Given the description of an element on the screen output the (x, y) to click on. 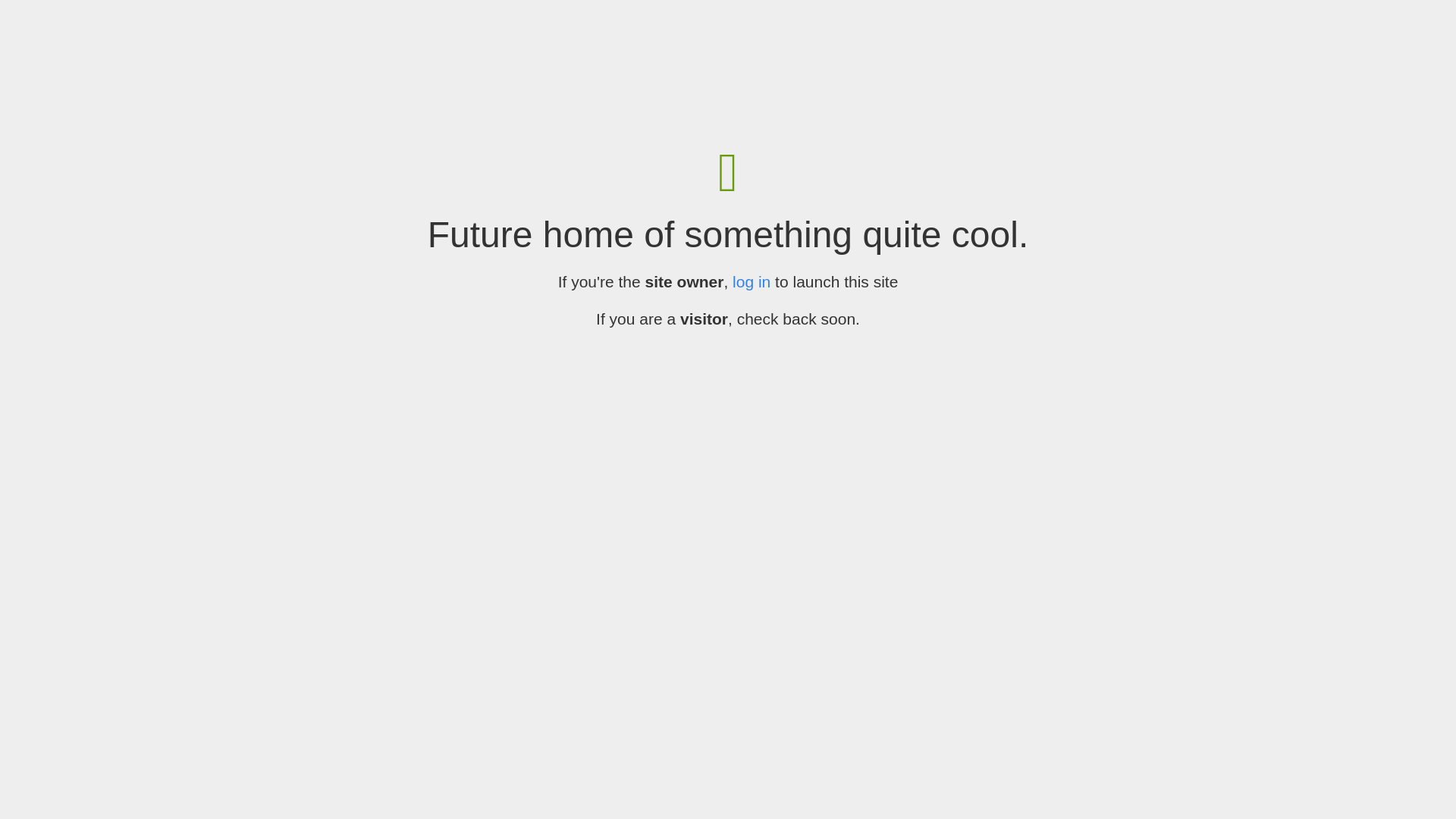
log in Element type: text (751, 281)
